Given the description of an element on the screen output the (x, y) to click on. 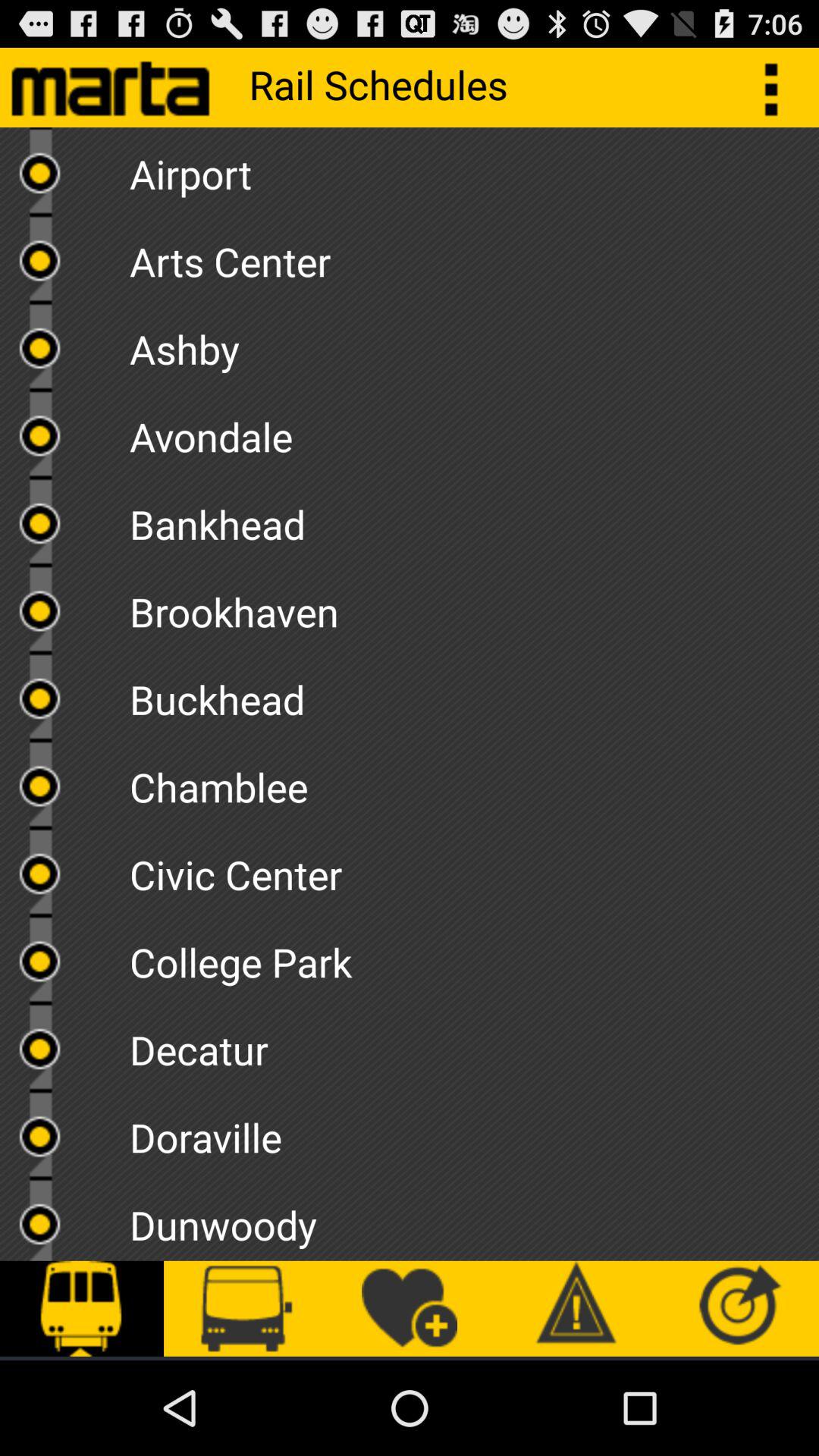
turn off the icon above arts center app (474, 168)
